Given the description of an element on the screen output the (x, y) to click on. 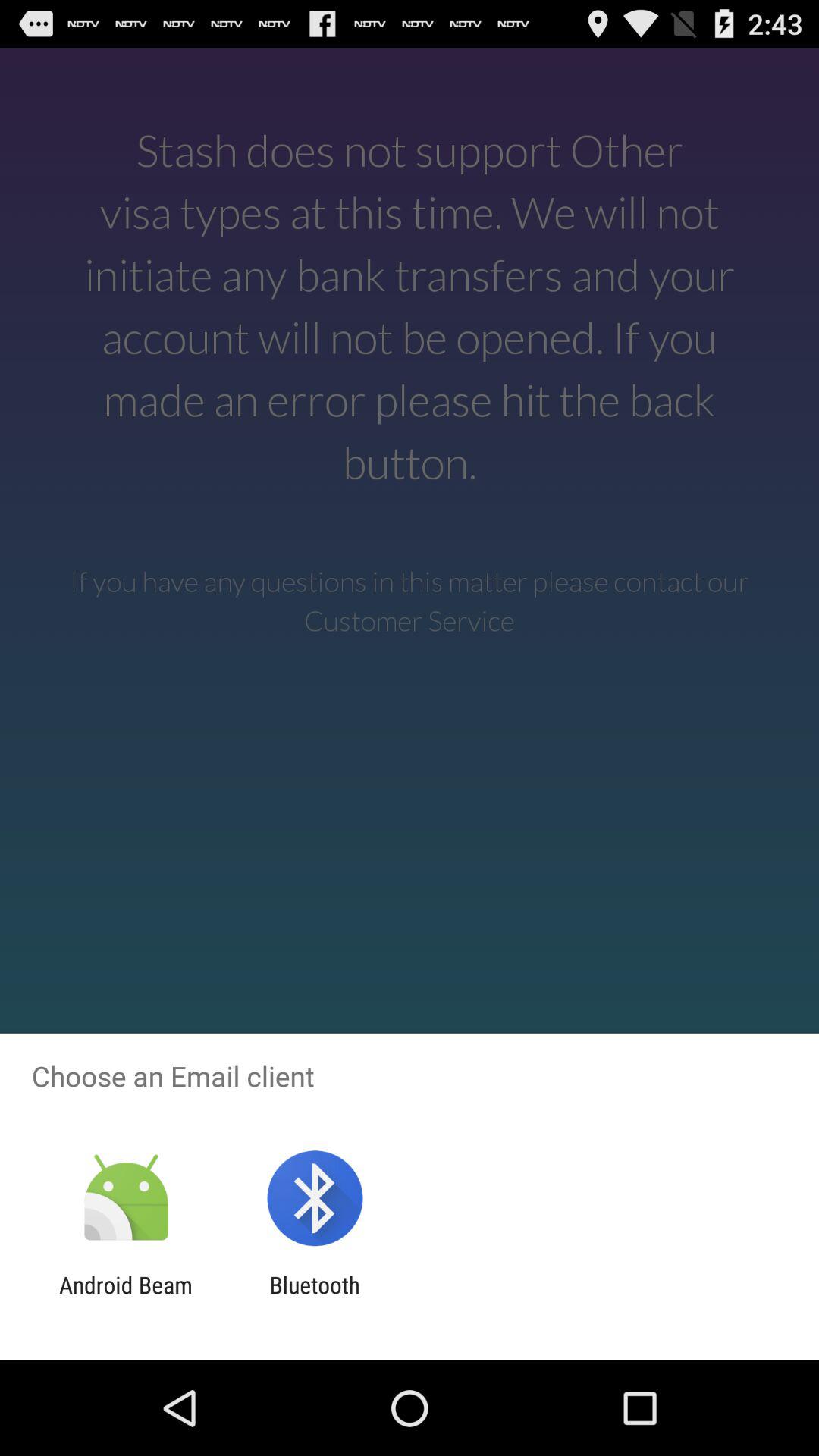
select the icon to the left of bluetooth app (125, 1298)
